Given the description of an element on the screen output the (x, y) to click on. 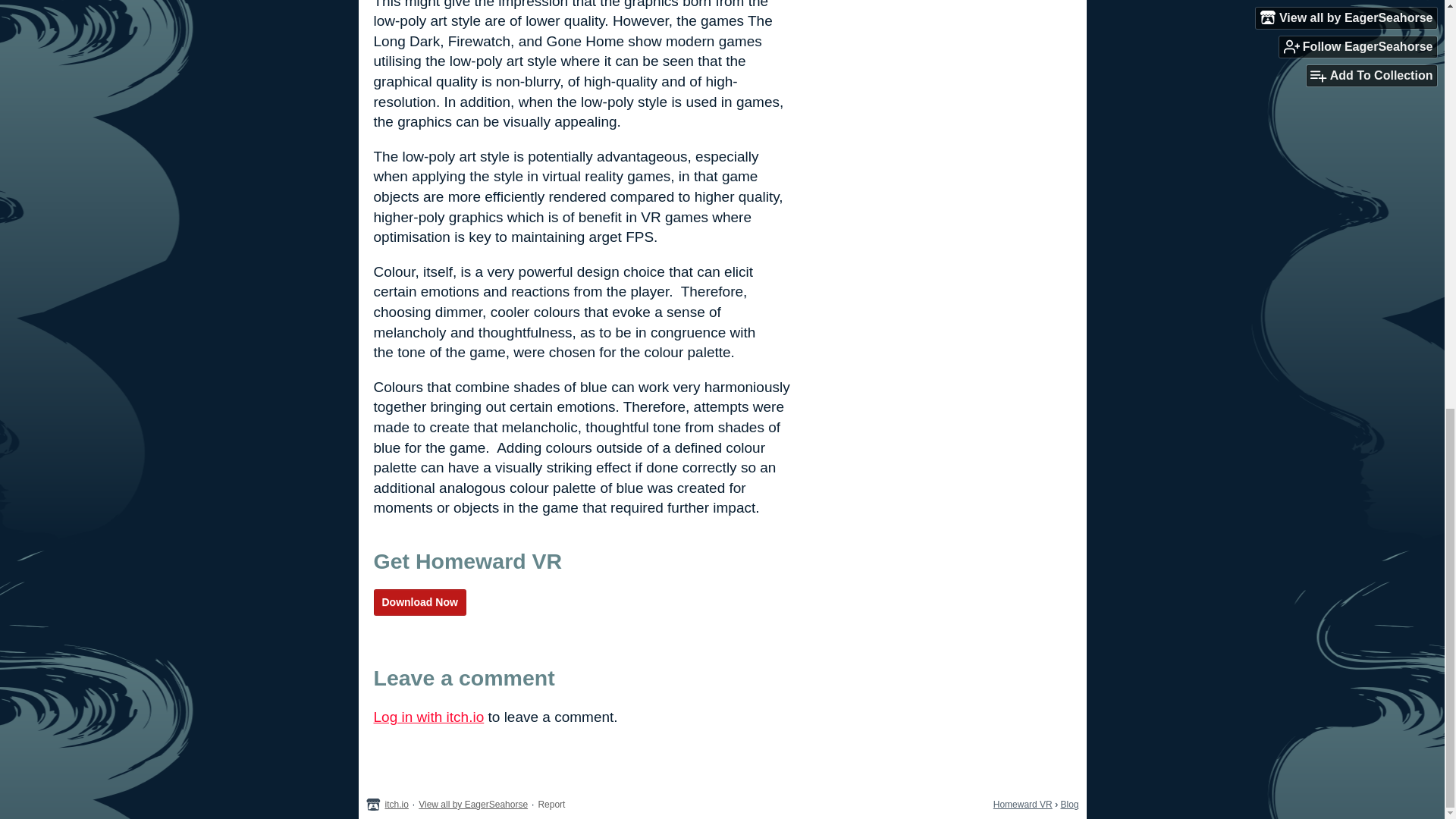
View all by EagerSeahorse (473, 804)
Log in with itch.io (427, 716)
itch.io (397, 804)
Download Now (418, 601)
Report (550, 804)
